Given the description of an element on the screen output the (x, y) to click on. 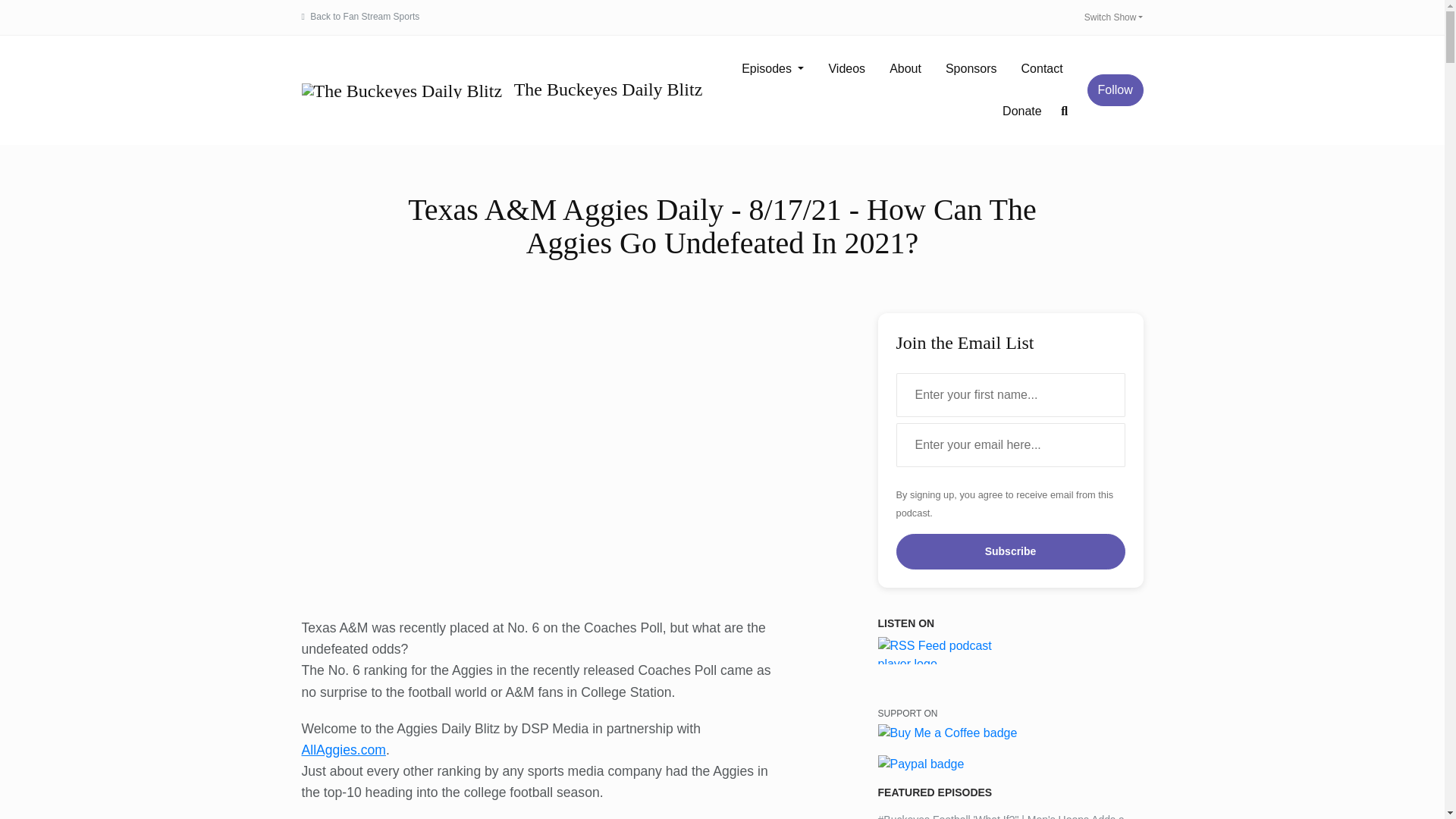
The Buckeyes Daily Blitz (495, 89)
Switch Show (1109, 17)
Back to Fan Stream Sports (364, 16)
Episodes (772, 68)
